Given the description of an element on the screen output the (x, y) to click on. 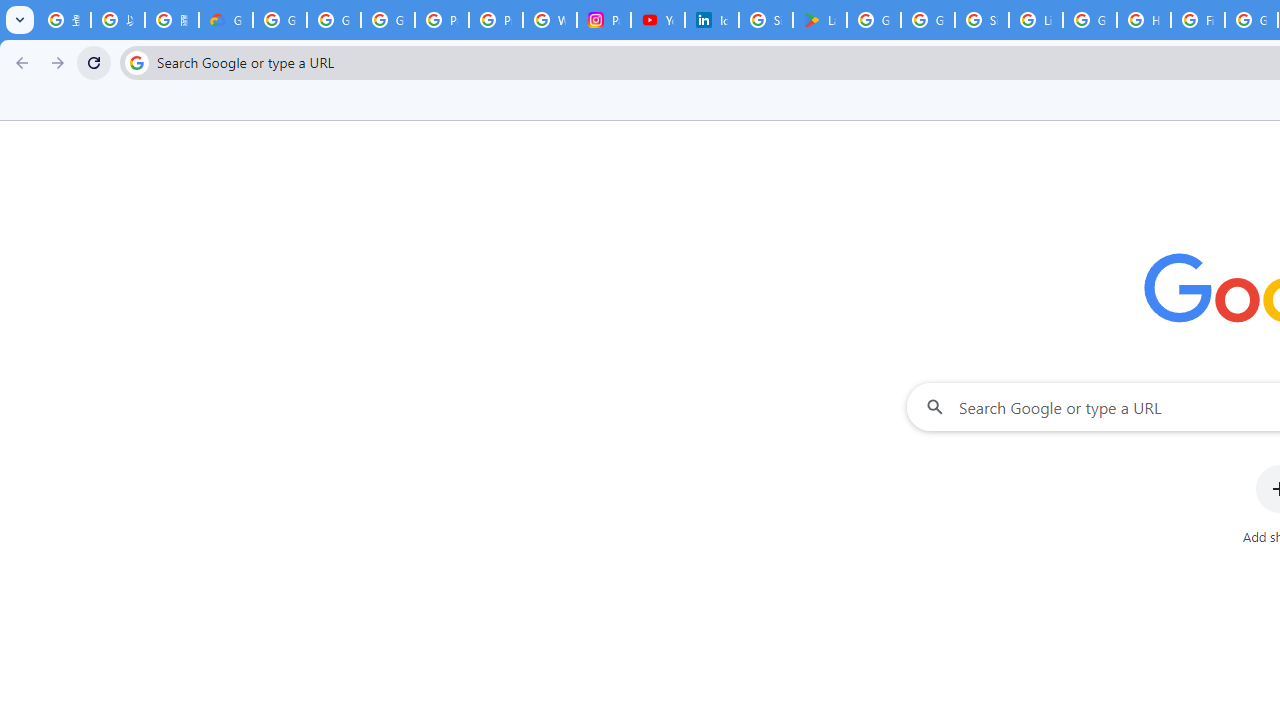
Last Shelter: Survival - Apps on Google Play (819, 20)
Privacy Help Center - Policies Help (441, 20)
Search icon (136, 62)
How do I create a new Google Account? - Google Account Help (1144, 20)
